Given the description of an element on the screen output the (x, y) to click on. 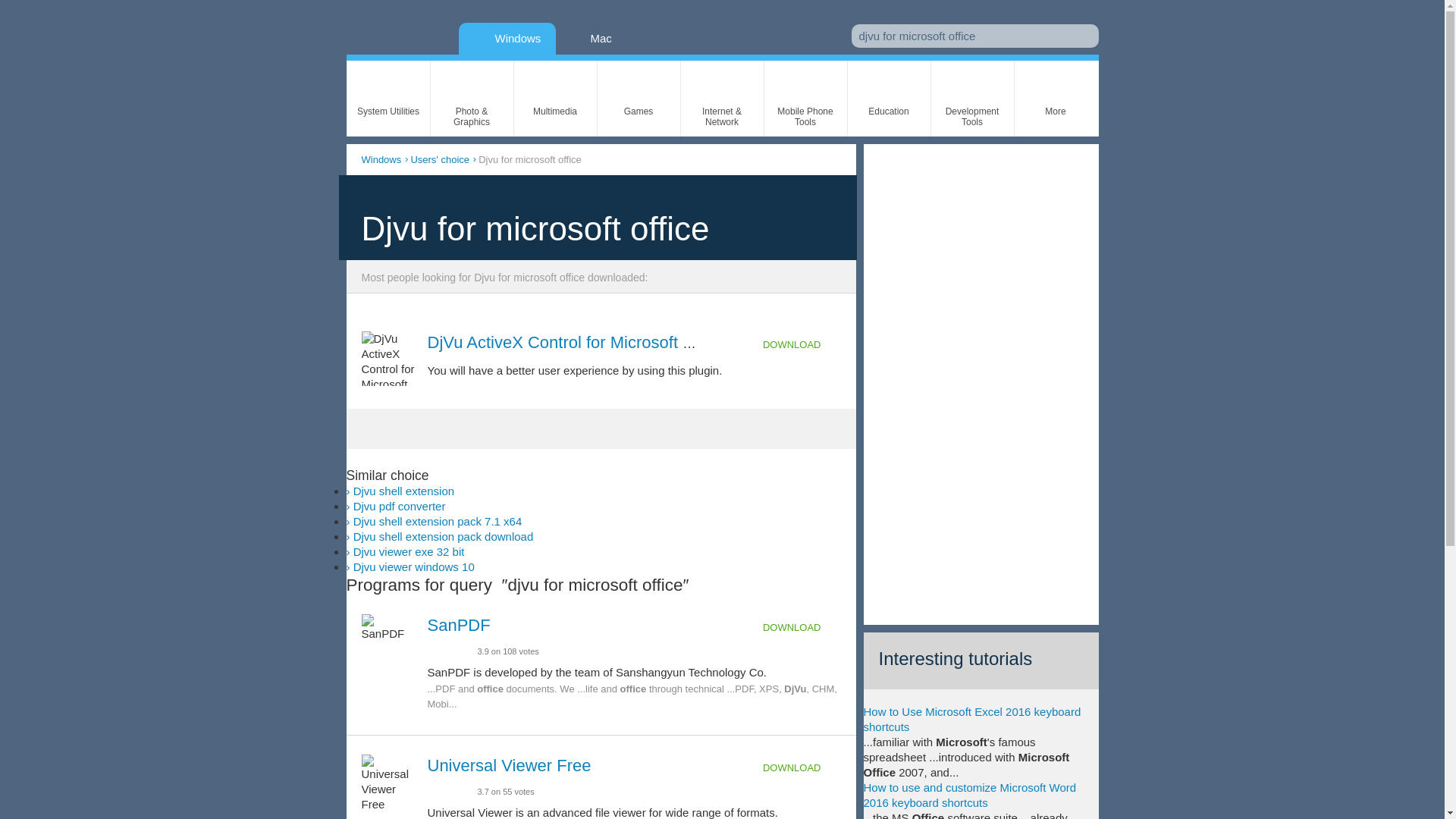
How to Use Microsoft Excel 2016 keyboard shortcuts (971, 719)
Users' choice (439, 159)
DOWNLOAD (801, 627)
SanPDF (459, 624)
System Utilities (388, 98)
Games (637, 98)
Multimedia (554, 98)
DjVu ActiveX Control for Microsoft Office (577, 342)
DjVu ActiveX Control for Microsoft Office (577, 342)
